Given the description of an element on the screen output the (x, y) to click on. 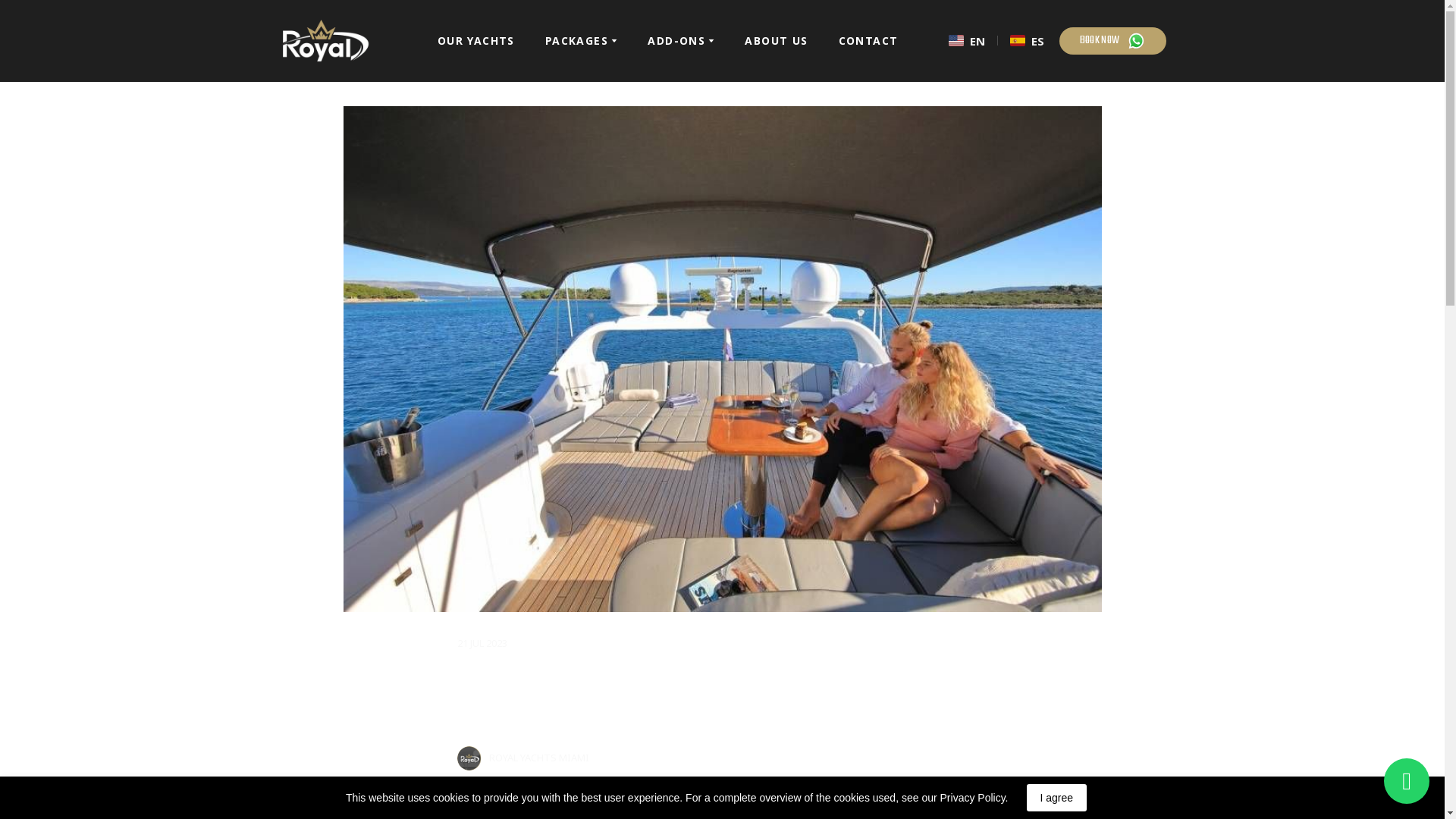
ES (1026, 40)
CONTACT (868, 40)
PACKAGES (576, 40)
ADD-ONS (675, 40)
OUR YACHTS (476, 40)
ABOUT US (776, 40)
BOOK NOW  (1112, 40)
